Given the description of an element on the screen output the (x, y) to click on. 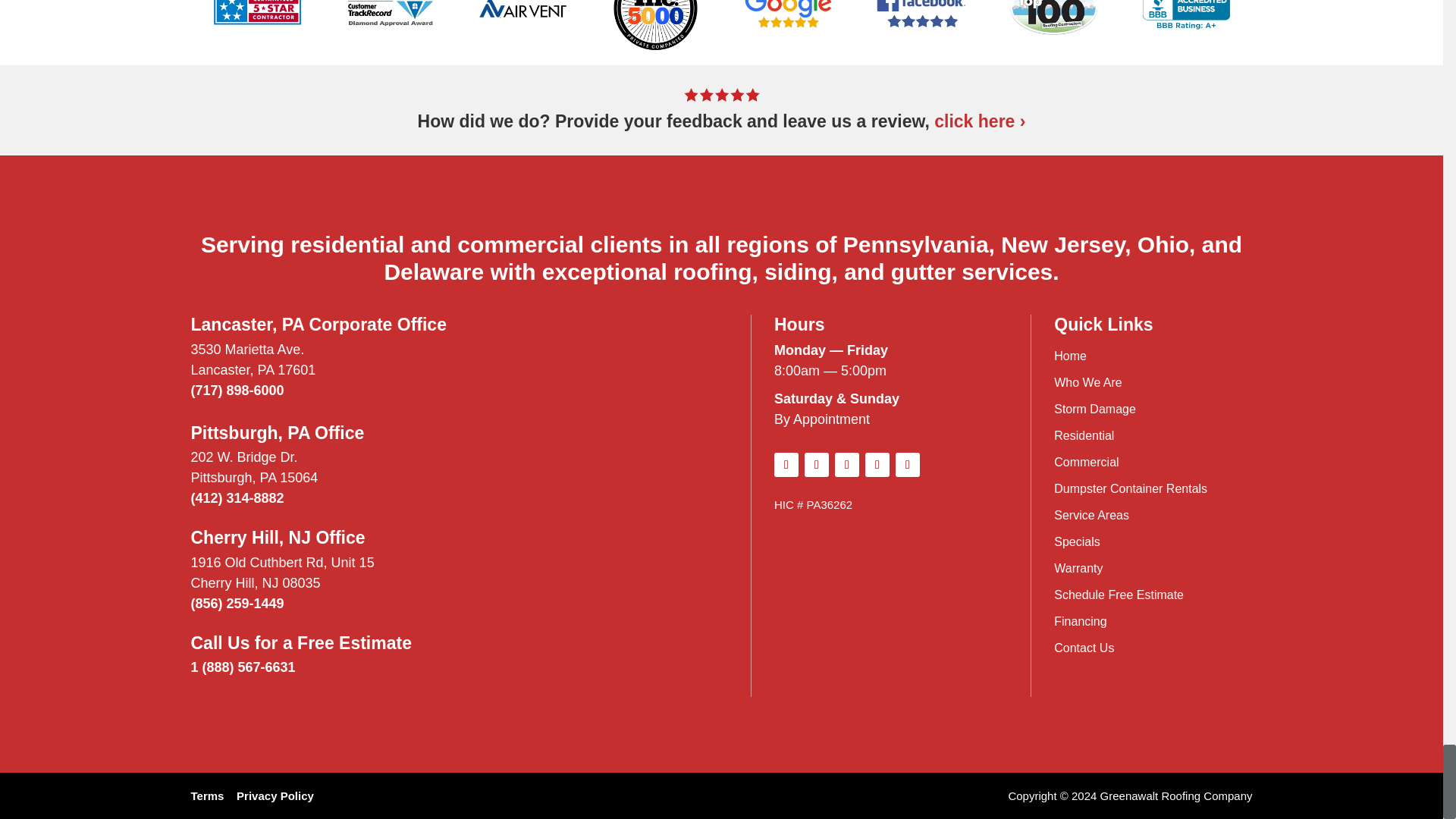
CertainTeed-5-Star (522, 30)
5-Stars (722, 93)
CertainTeed-5-Star (1186, 30)
CertainTeed-5-Star (255, 30)
CertainTeed-5-Star (654, 30)
Follow on LinkedIn (816, 464)
CertainTeed-5-Star (921, 30)
CertainTeed-5-Star (787, 30)
CertainTeed-5-Star (389, 30)
CertainTeed-5-Star (1052, 30)
